Given the description of an element on the screen output the (x, y) to click on. 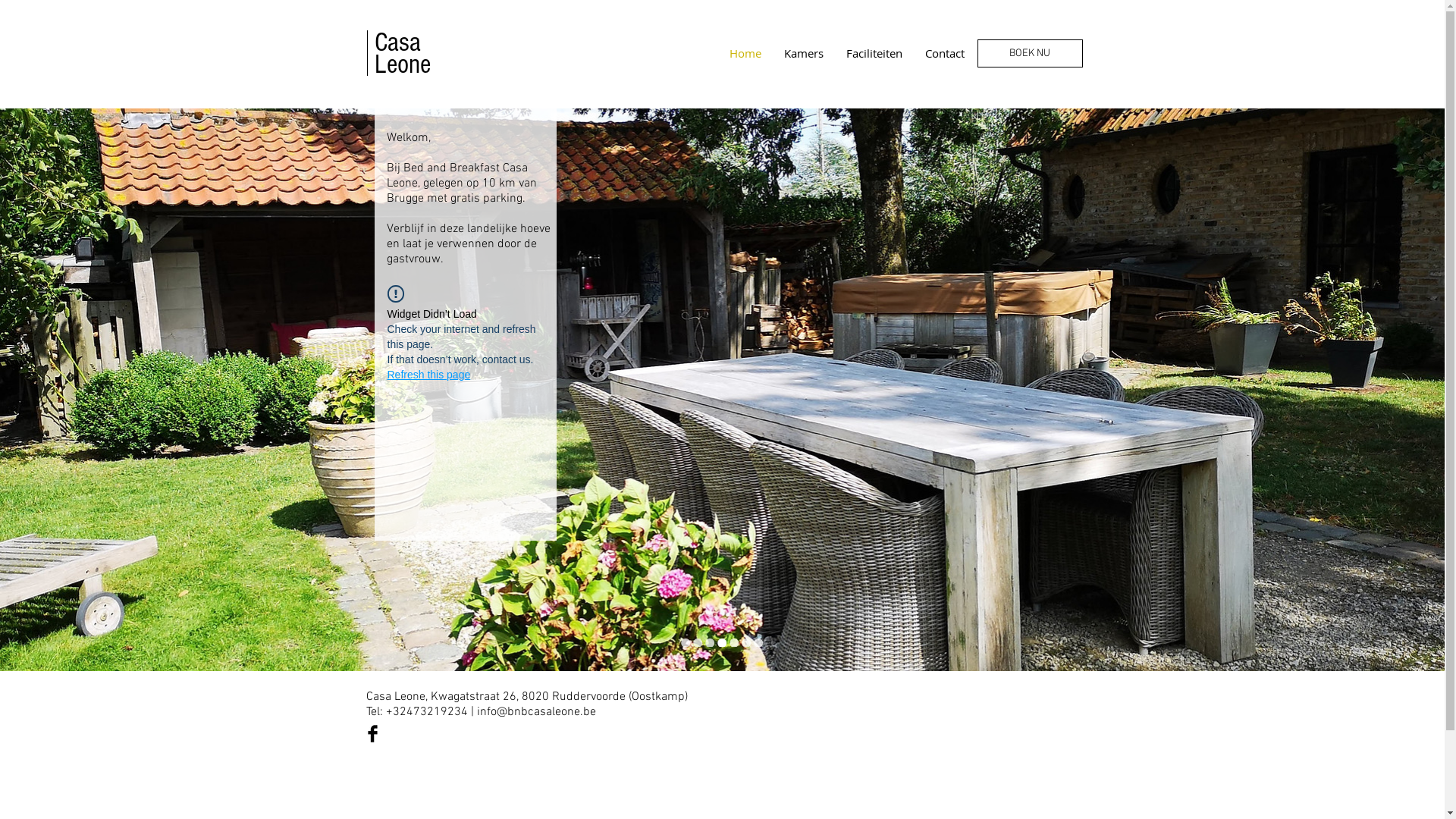
Contact Element type: text (944, 52)
info@bnbcasaleone.be Element type: text (535, 711)
BOEK NU Element type: text (1029, 53)
Home Element type: text (744, 52)
Kamers Element type: text (802, 52)
Casa Element type: text (397, 42)
Refresh this page Element type: text (428, 374)
Faciliteiten Element type: text (873, 52)
